Given the description of an element on the screen output the (x, y) to click on. 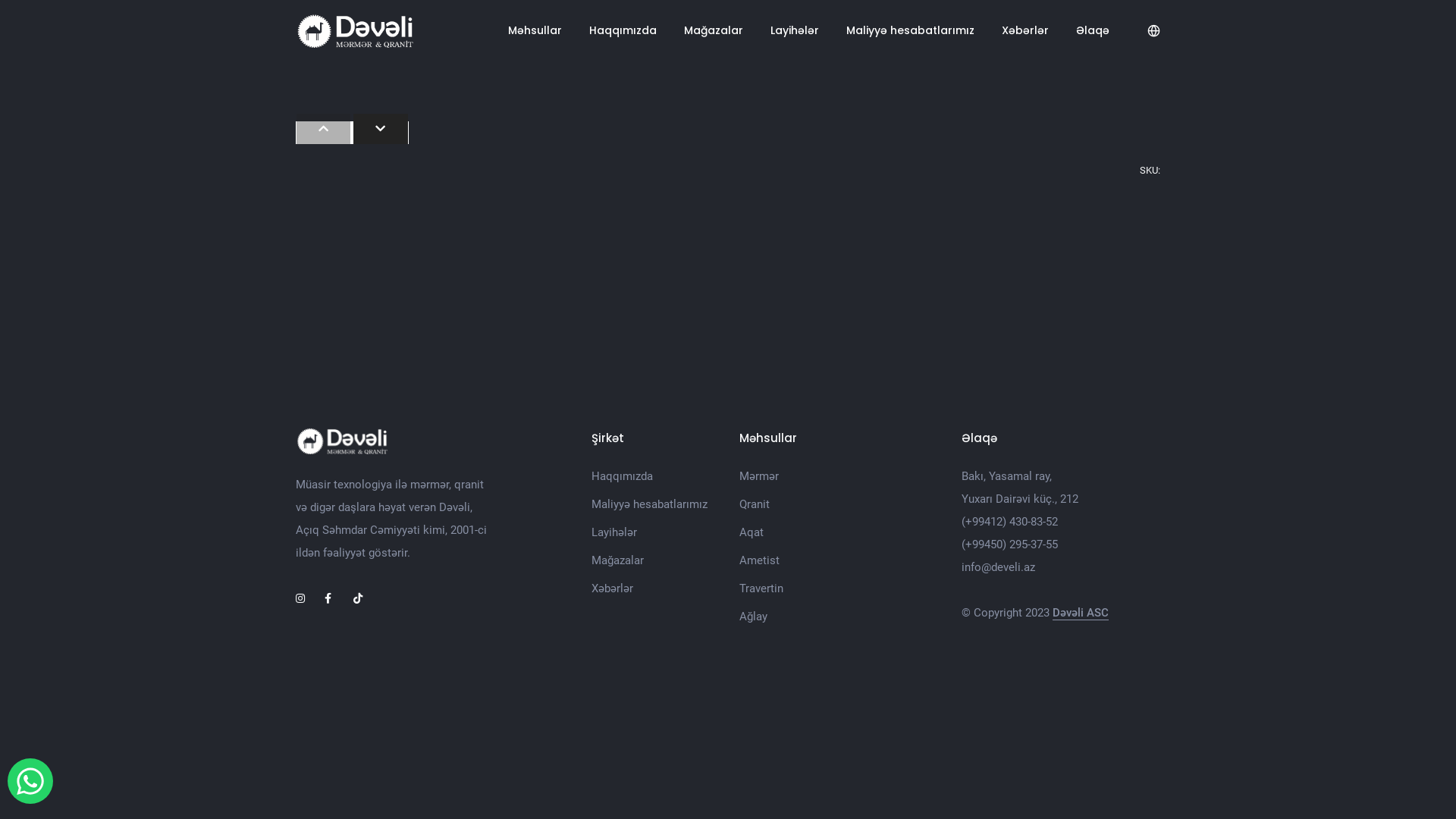
(+99412) 430-83-52 Element type: text (1009, 521)
Travertin Element type: text (761, 588)
Qranit Element type: text (754, 504)
Aqat Element type: text (751, 532)
Ametist Element type: text (759, 560)
(+99450) 295-37-55 Element type: text (1009, 544)
info@develi.az Element type: text (998, 567)
